Given the description of an element on the screen output the (x, y) to click on. 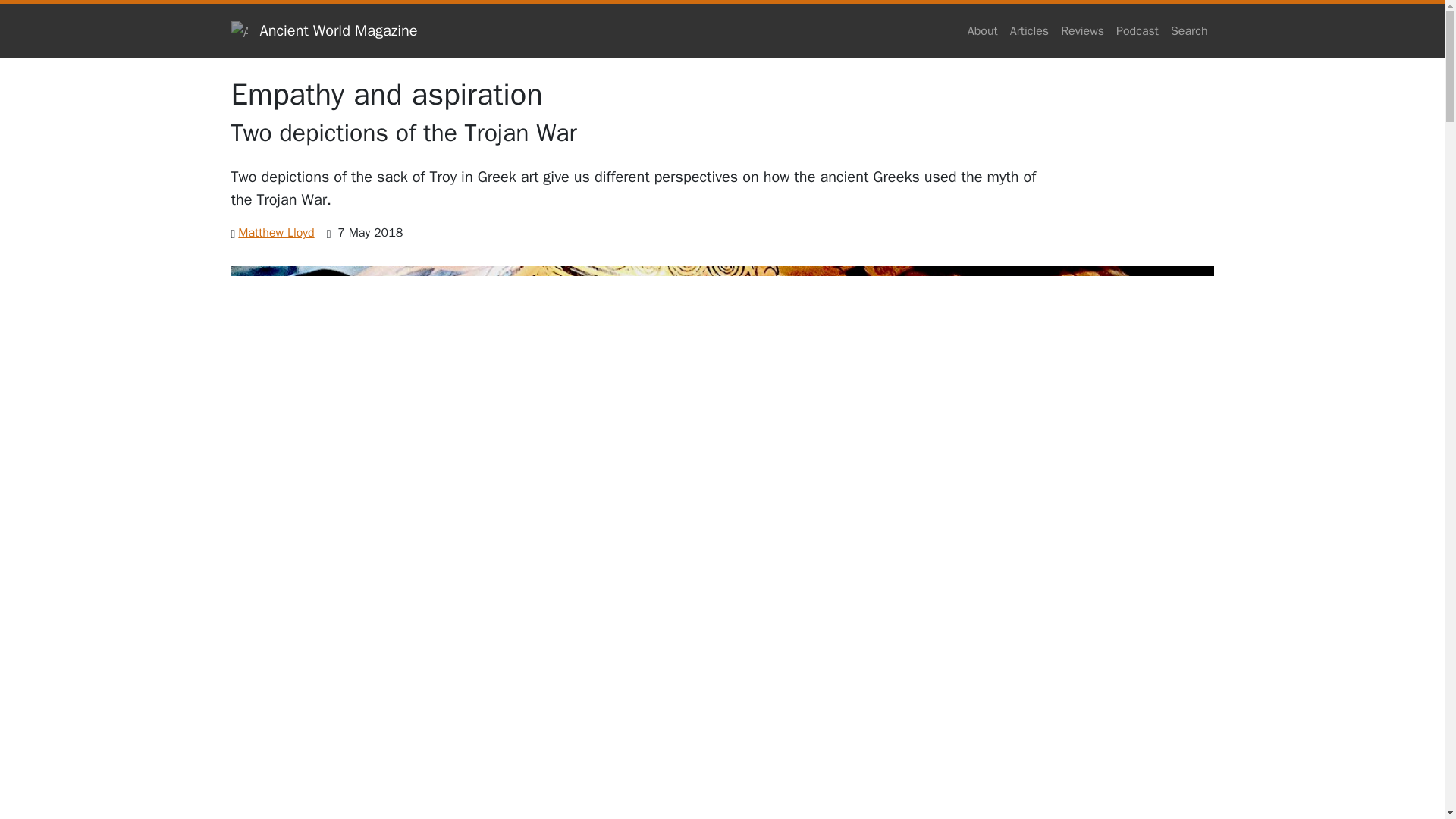
Search (1189, 30)
Podcast (1136, 30)
Matthew Lloyd (276, 232)
Reviews (1081, 30)
Ancient World Magazine (323, 30)
About (982, 30)
Articles (1029, 30)
